Given the description of an element on the screen output the (x, y) to click on. 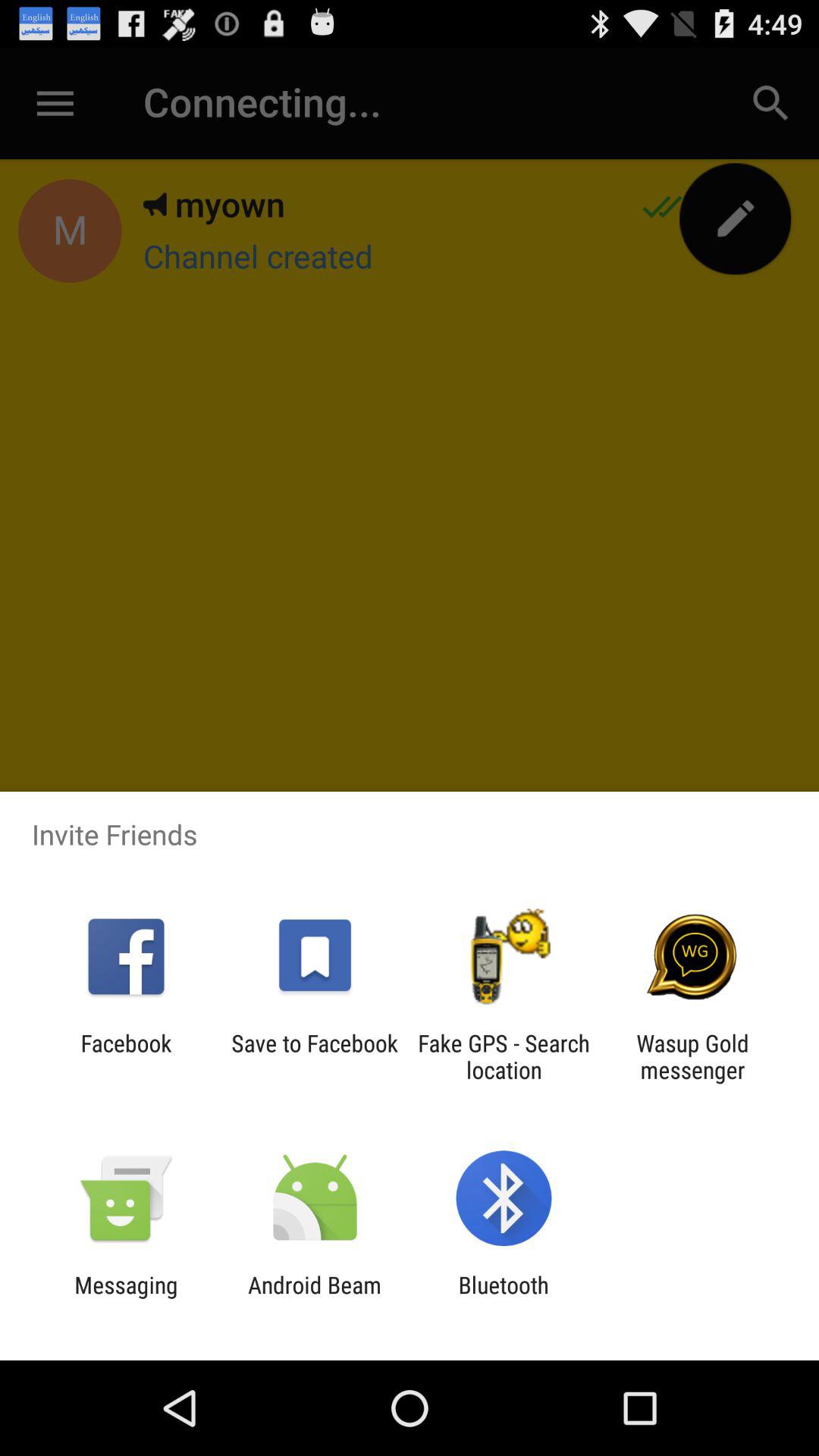
choose app to the left of the fake gps search app (314, 1056)
